Given the description of an element on the screen output the (x, y) to click on. 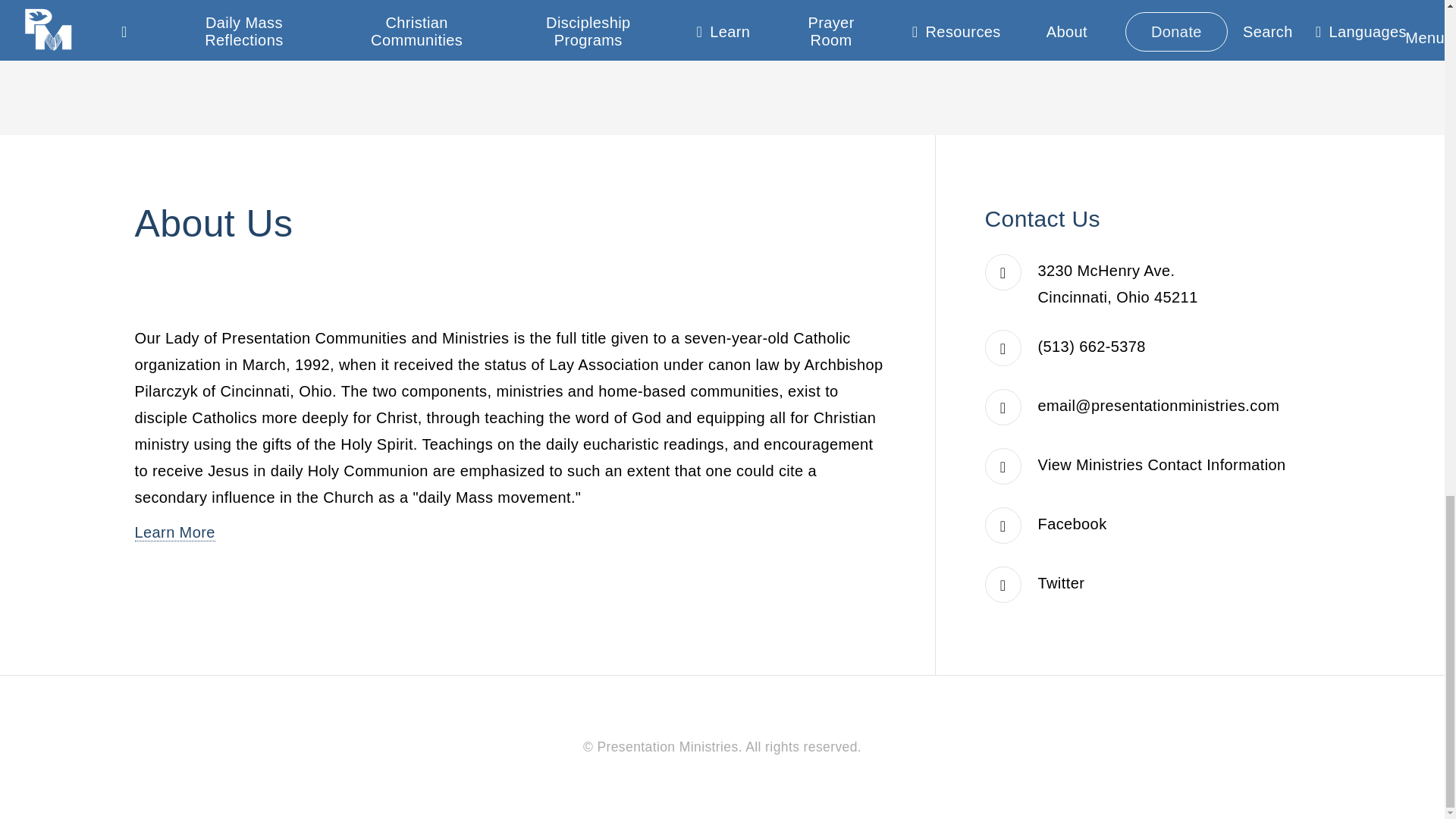
E-mail (1158, 405)
Telephone (1091, 346)
Facebook (1072, 523)
Twitter (1061, 582)
